Given the description of an element on the screen output the (x, y) to click on. 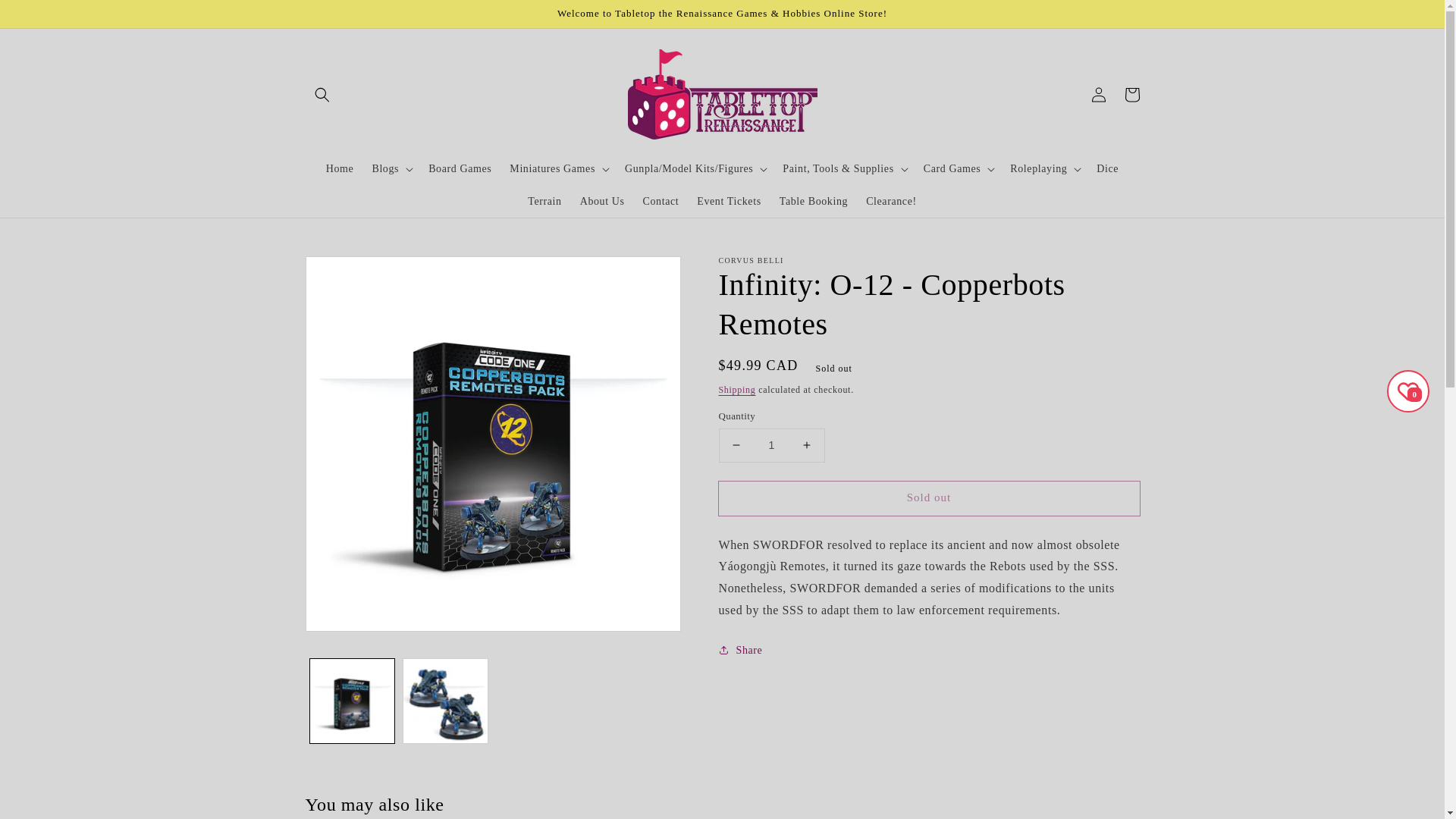
Skip to content (45, 16)
1 (772, 445)
